Given the description of an element on the screen output the (x, y) to click on. 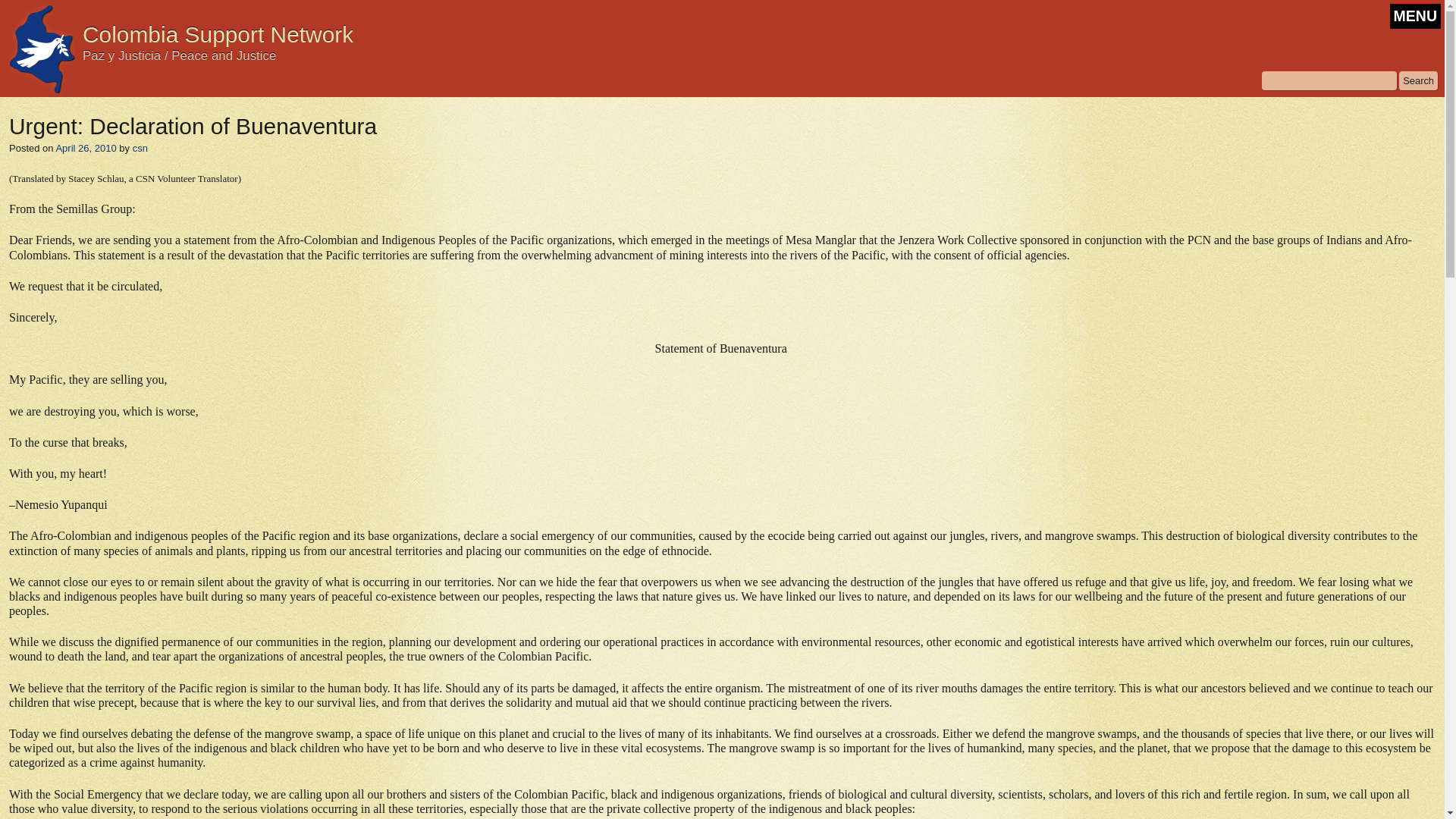
Search (1418, 80)
Search (1418, 80)
View all posts by csn (140, 147)
April 26, 2010 (85, 147)
csn (140, 147)
MENU (1415, 16)
4:20 pm (85, 147)
